Given the description of an element on the screen output the (x, y) to click on. 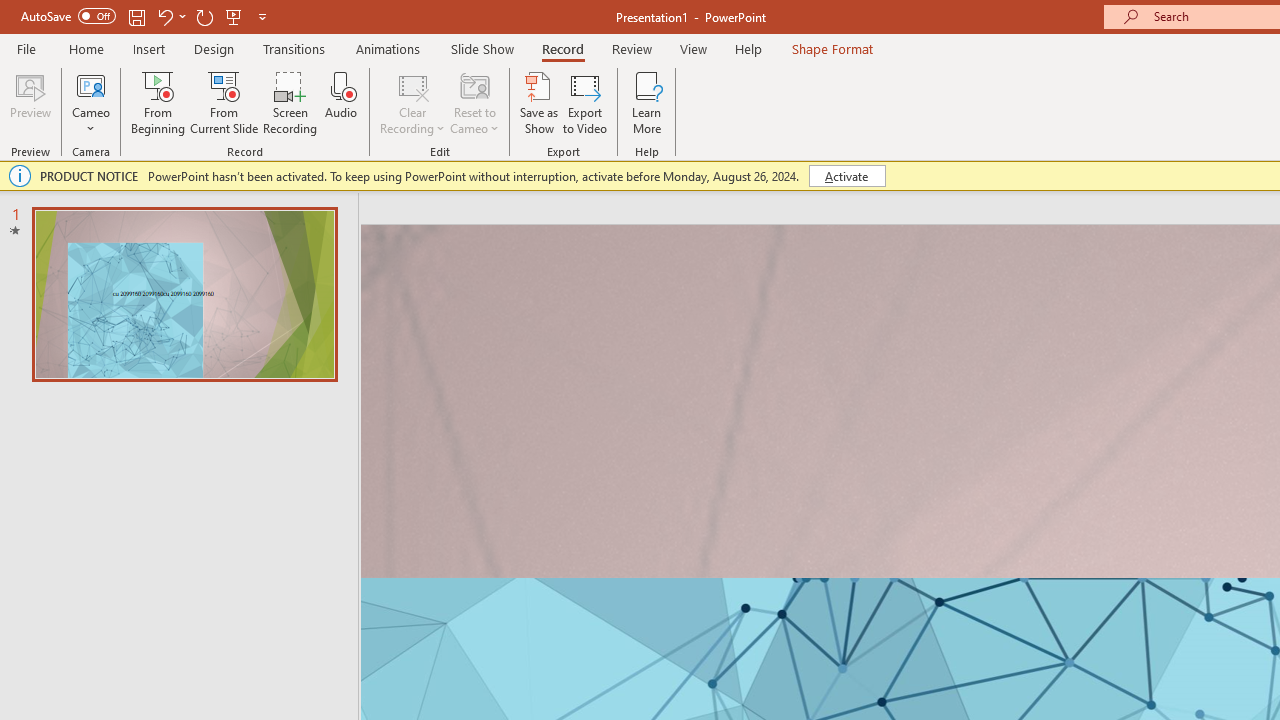
Activate (846, 175)
